Given the description of an element on the screen output the (x, y) to click on. 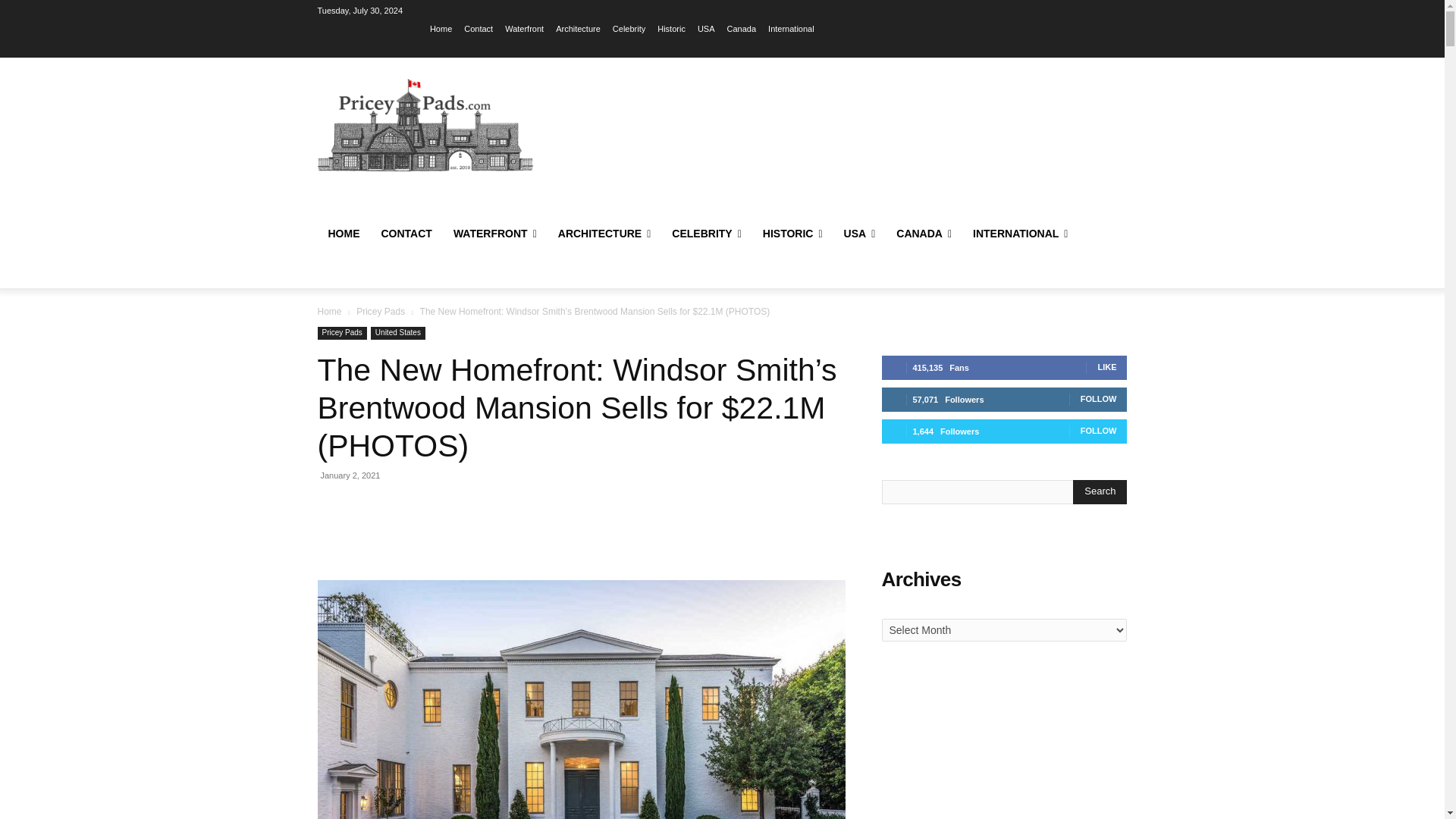
Search (1099, 491)
Waterfront (524, 28)
HOME (343, 233)
Architecture (577, 28)
CONTACT (405, 233)
Home (440, 28)
Historic (671, 28)
Canada (741, 28)
International (790, 28)
WATERFRONT (494, 233)
Contact (478, 28)
Celebrity (628, 28)
